Given the description of an element on the screen output the (x, y) to click on. 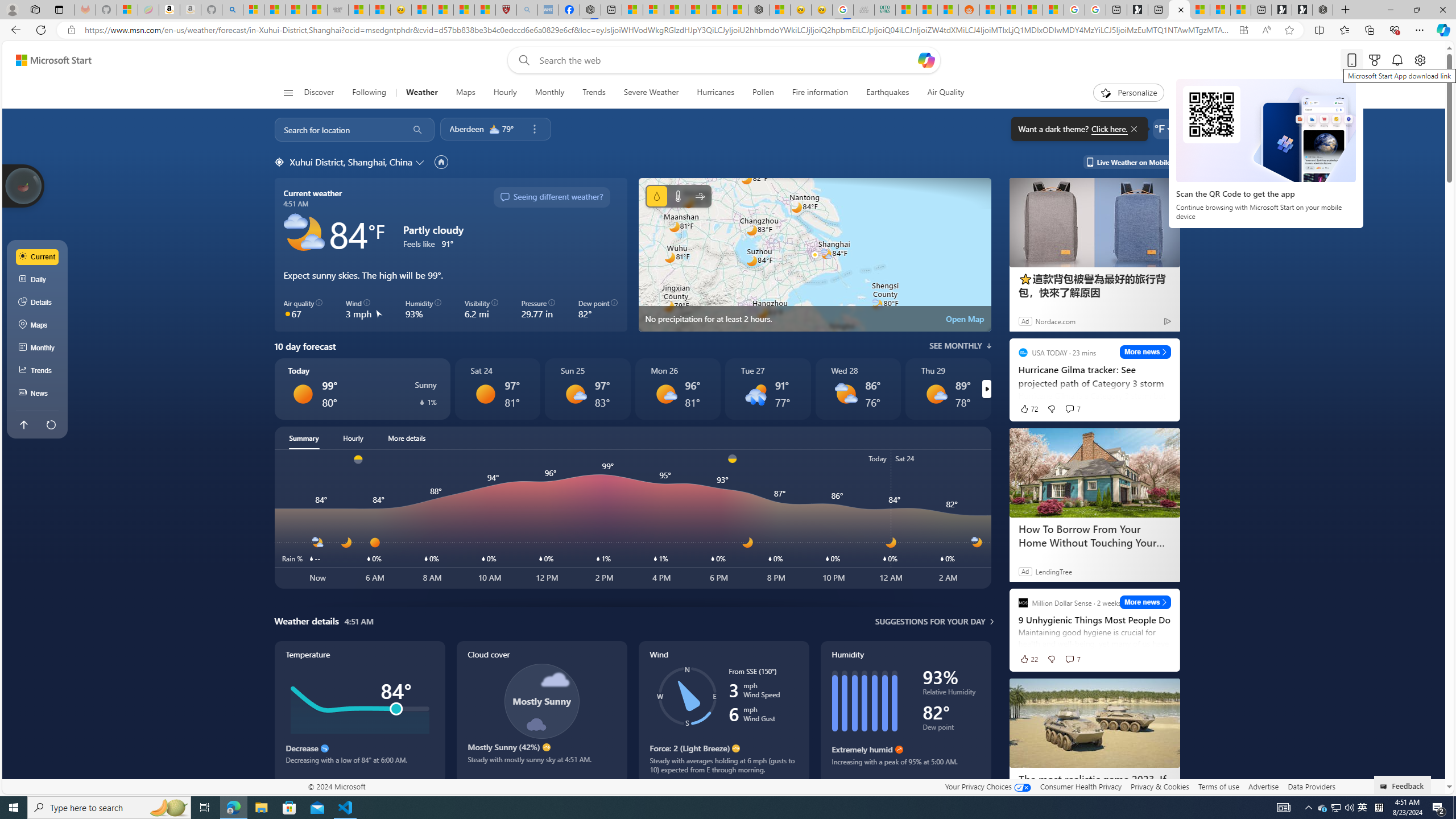
DITOGAMES AG Imprint (884, 9)
Pressure 29.77 in (538, 309)
To get missing image descriptions, open the context menu. (1105, 92)
Air Quality (945, 92)
Skip to content (49, 59)
Daily (37, 279)
No precipitation for at least 2 hours (814, 254)
More news (1144, 602)
MSN (948, 9)
